Given the description of an element on the screen output the (x, y) to click on. 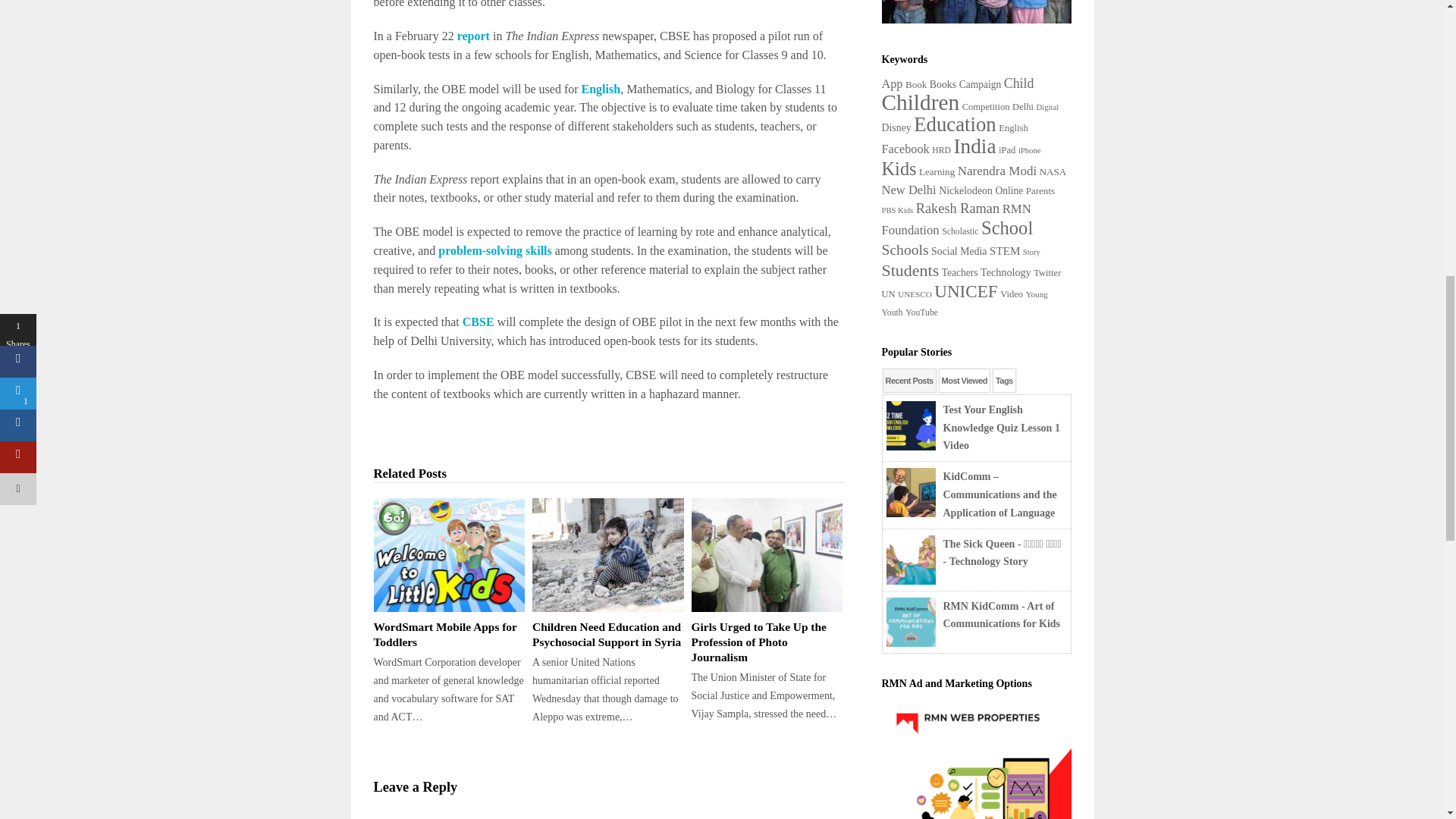
problem-solving skills (494, 250)
App (891, 83)
Campaign (980, 84)
WordSmart Mobile Apps for Toddlers (448, 634)
26 topics (891, 83)
WordSmart Mobile Apps for Toddlers (448, 634)
WordSmart Mobile Apps for Toddlers (448, 554)
17 topics (980, 84)
English (600, 88)
CBSE (479, 321)
